Given the description of an element on the screen output the (x, y) to click on. 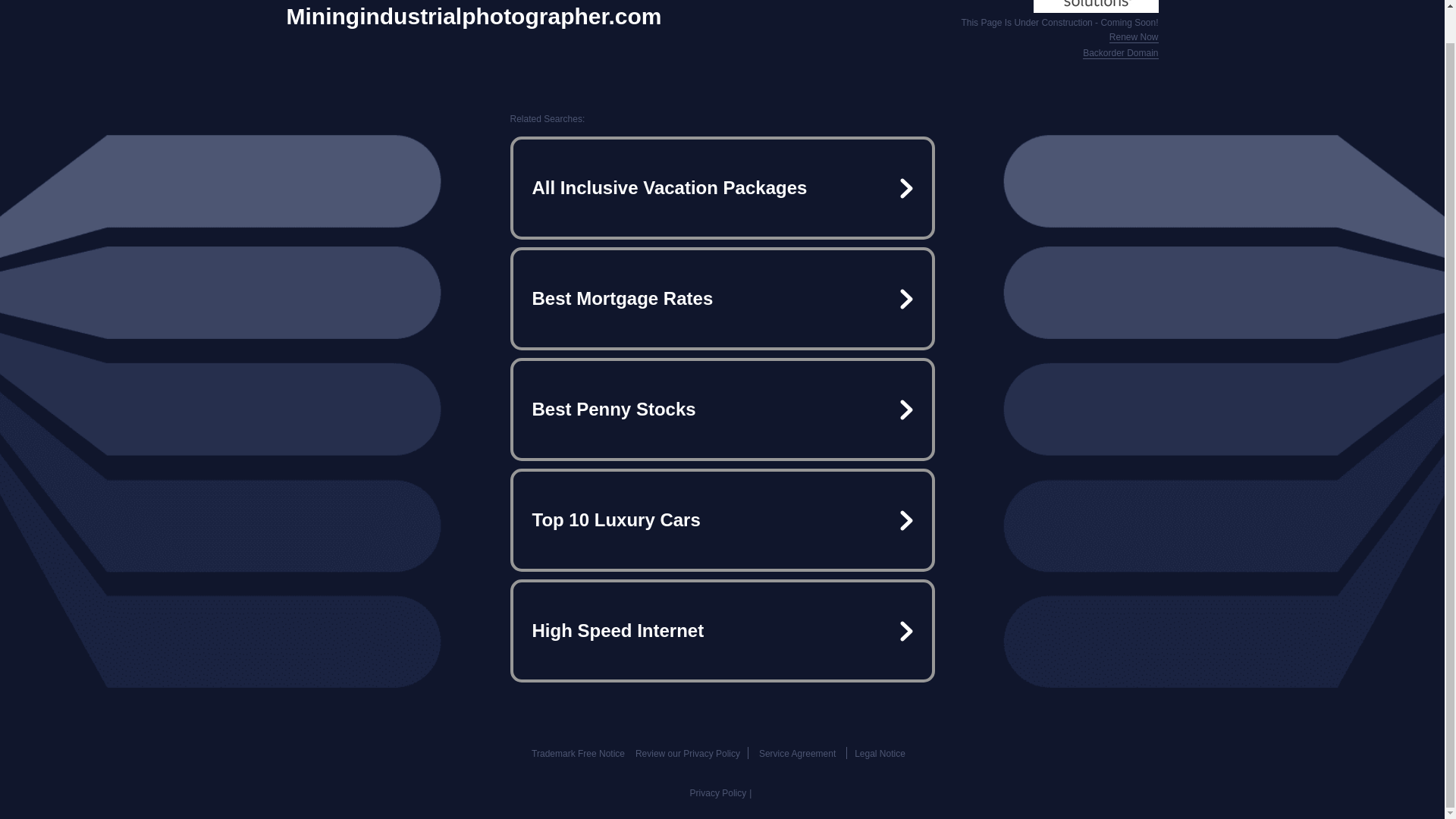
Miningindustrialphotographer.com (474, 16)
High Speed Internet (721, 630)
Best Penny Stocks (721, 409)
Privacy Policy (718, 792)
Renew Now (1133, 37)
Best Mortgage Rates (721, 298)
Review our Privacy Policy (686, 753)
Best Penny Stocks (721, 409)
Top 10 Luxury Cars (721, 519)
All Inclusive Vacation Packages (721, 187)
Backorder Domain (1120, 52)
Trademark Free Notice (577, 753)
Legal Notice (879, 753)
Top 10 Luxury Cars (721, 519)
Service Agreement (796, 753)
